Given the description of an element on the screen output the (x, y) to click on. 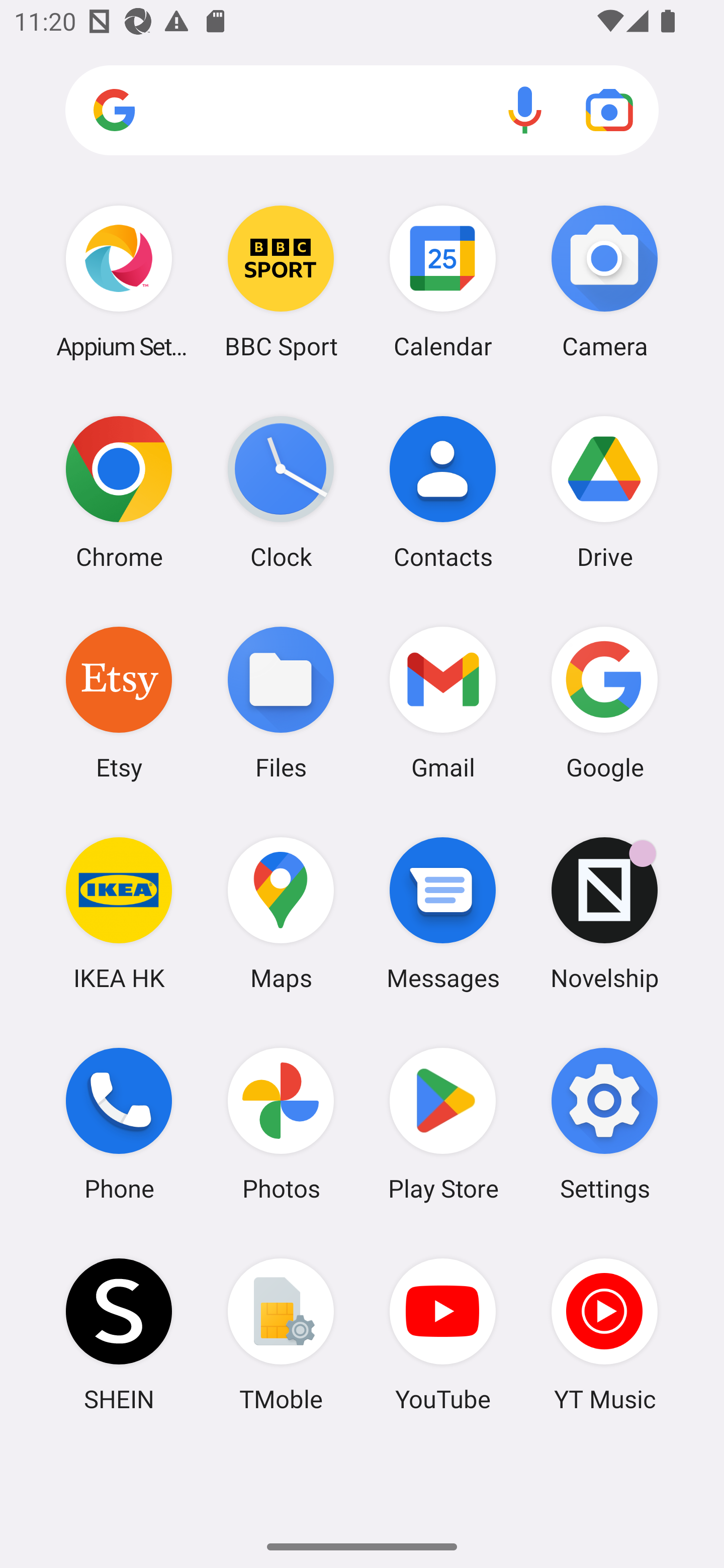
Search apps, web and more (361, 110)
Voice search (524, 109)
Google Lens (608, 109)
Appium Settings (118, 281)
BBC Sport (280, 281)
Calendar (443, 281)
Camera (604, 281)
Chrome (118, 492)
Clock (280, 492)
Contacts (443, 492)
Drive (604, 492)
Etsy (118, 702)
Files (280, 702)
Gmail (443, 702)
Google (604, 702)
IKEA HK (118, 913)
Maps (280, 913)
Messages (443, 913)
Novelship Novelship has 4 notifications (604, 913)
Phone (118, 1124)
Photos (280, 1124)
Play Store (443, 1124)
Settings (604, 1124)
SHEIN (118, 1334)
TMoble (280, 1334)
YouTube (443, 1334)
YT Music (604, 1334)
